Given the description of an element on the screen output the (x, y) to click on. 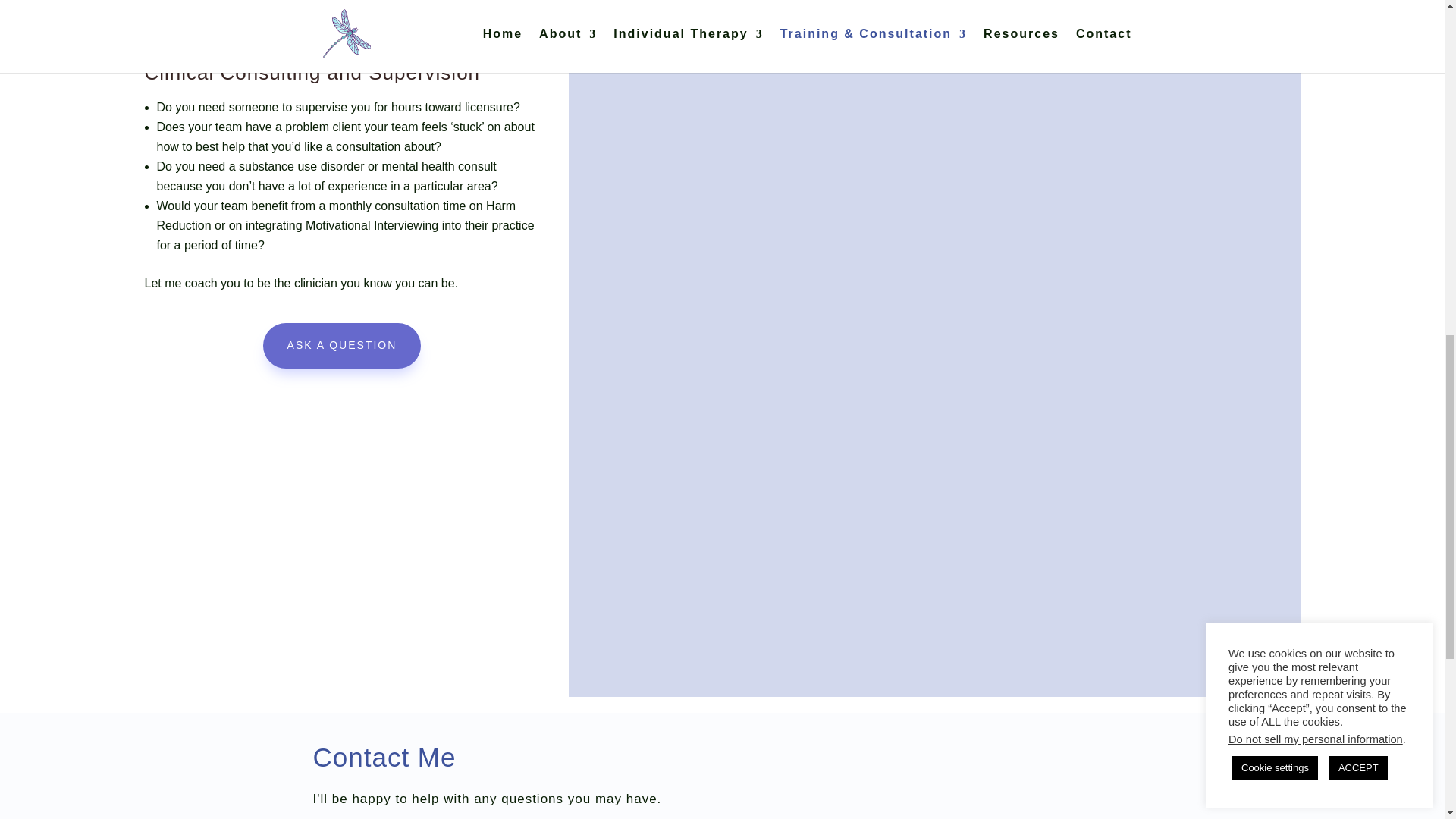
ASK A QUESTION (342, 345)
